Given the description of an element on the screen output the (x, y) to click on. 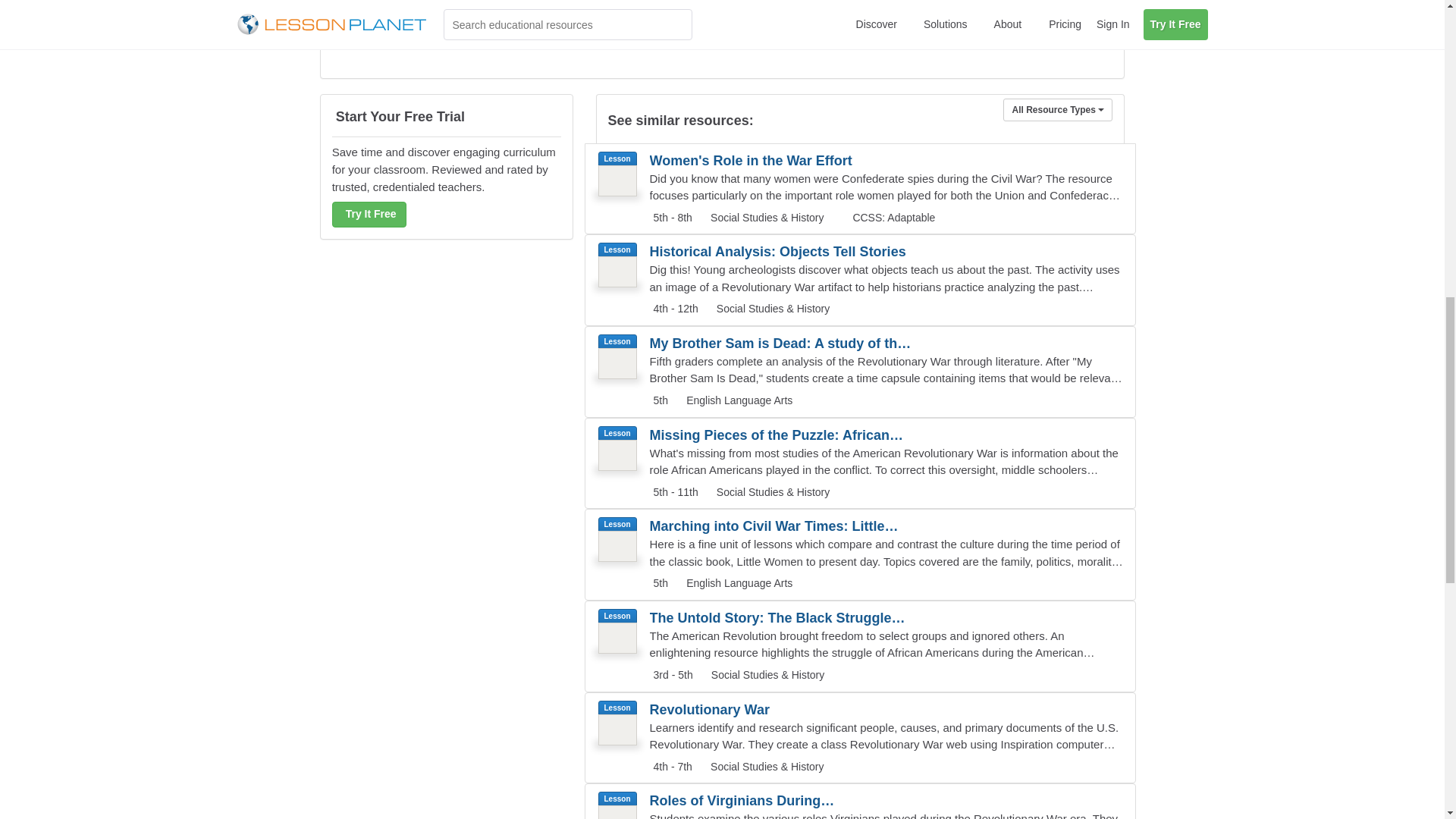
Grades (671, 217)
Grades (673, 309)
My Brother Sam is Dead:  A study of the Revolutionary War (781, 343)
Historical Analysis: Objects Tell Stories Lesson plan (860, 279)
Subject (766, 216)
Subject (737, 399)
Grades (658, 401)
Women's Role in the War Effort Lesson plan (860, 188)
Historical Analysis: Objects Tell Stories (781, 251)
Subject (771, 308)
Women's Role in the War Effort (781, 160)
